Given the description of an element on the screen output the (x, y) to click on. 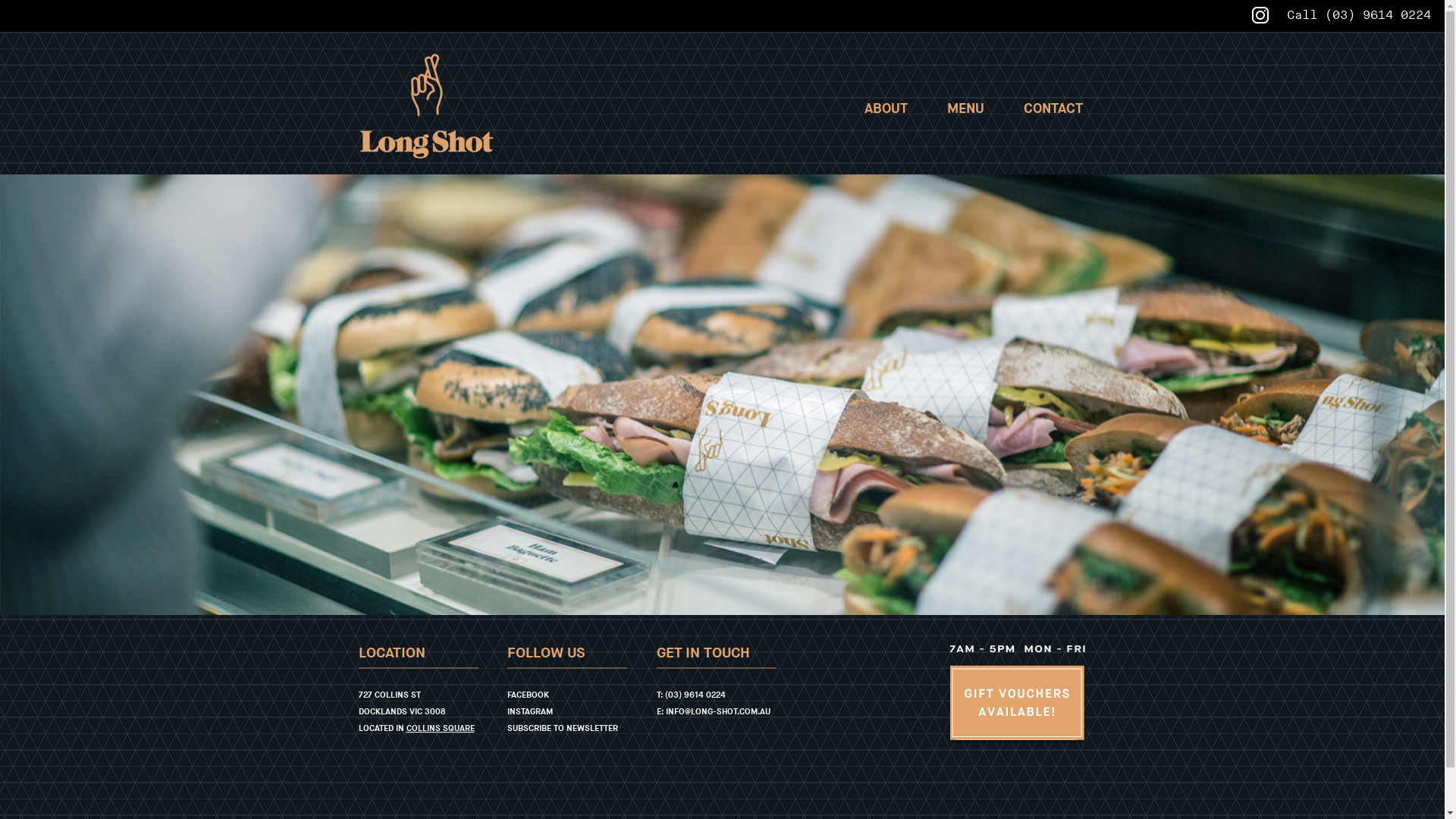
SUBSCRIBE TO NEWSLETTER Element type: text (562, 728)
MENU Element type: text (965, 108)
FACEBOOK Element type: text (528, 694)
CONTACT Element type: text (1052, 108)
LONG SHOT Element type: text (425, 106)
Instagram Element type: text (1259, 14)
COLLINS SQUARE Element type: text (440, 728)
ABOUT Element type: text (885, 108)
INSTAGRAM Element type: text (529, 711)
(03) 9614 0224 Element type: text (1377, 15)
INFO@LONG-SHOT.COM.AU Element type: text (717, 711)
(03) 9614 0224 Element type: text (695, 694)
